Given the description of an element on the screen output the (x, y) to click on. 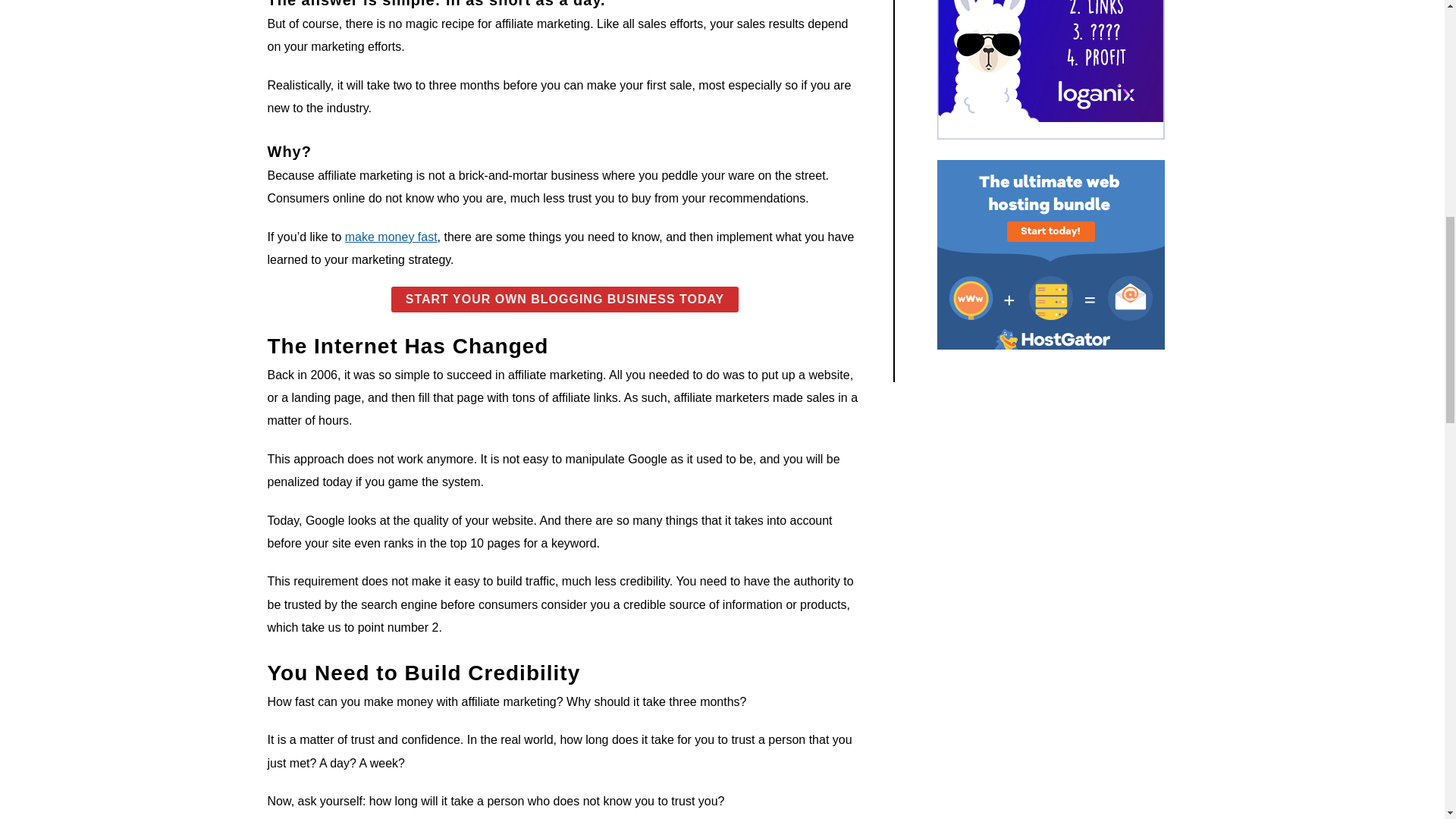
START YOUR OWN BLOGGING BUSINESS TODAY (565, 299)
make money fast (391, 236)
